Given the description of an element on the screen output the (x, y) to click on. 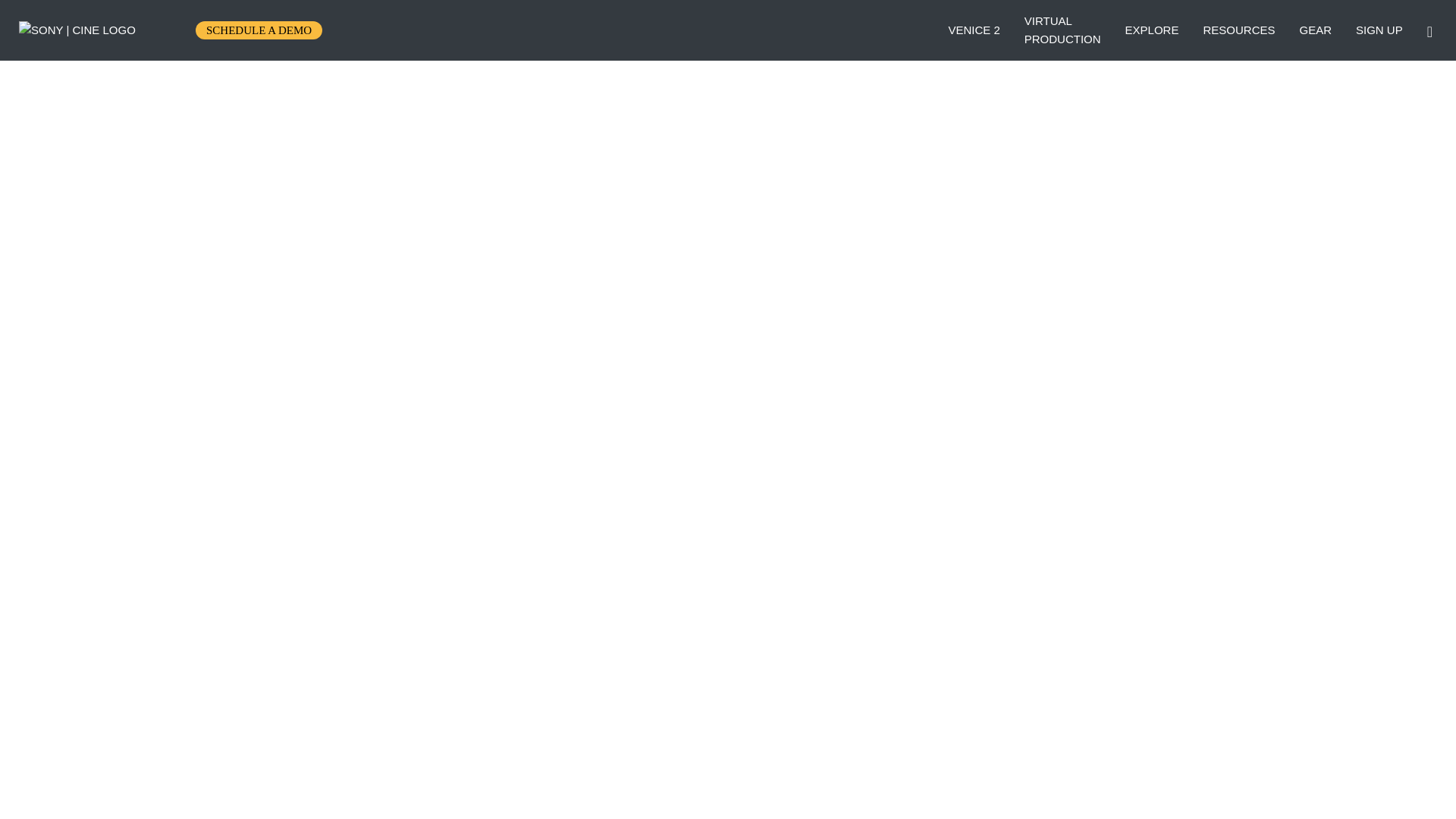
GEAR (1315, 30)
EXPLORE (1152, 30)
SIGN UP (1062, 30)
SCHEDULE A DEMO (1379, 30)
RESOURCES (258, 30)
VENICE 2 (1238, 30)
